Given the description of an element on the screen output the (x, y) to click on. 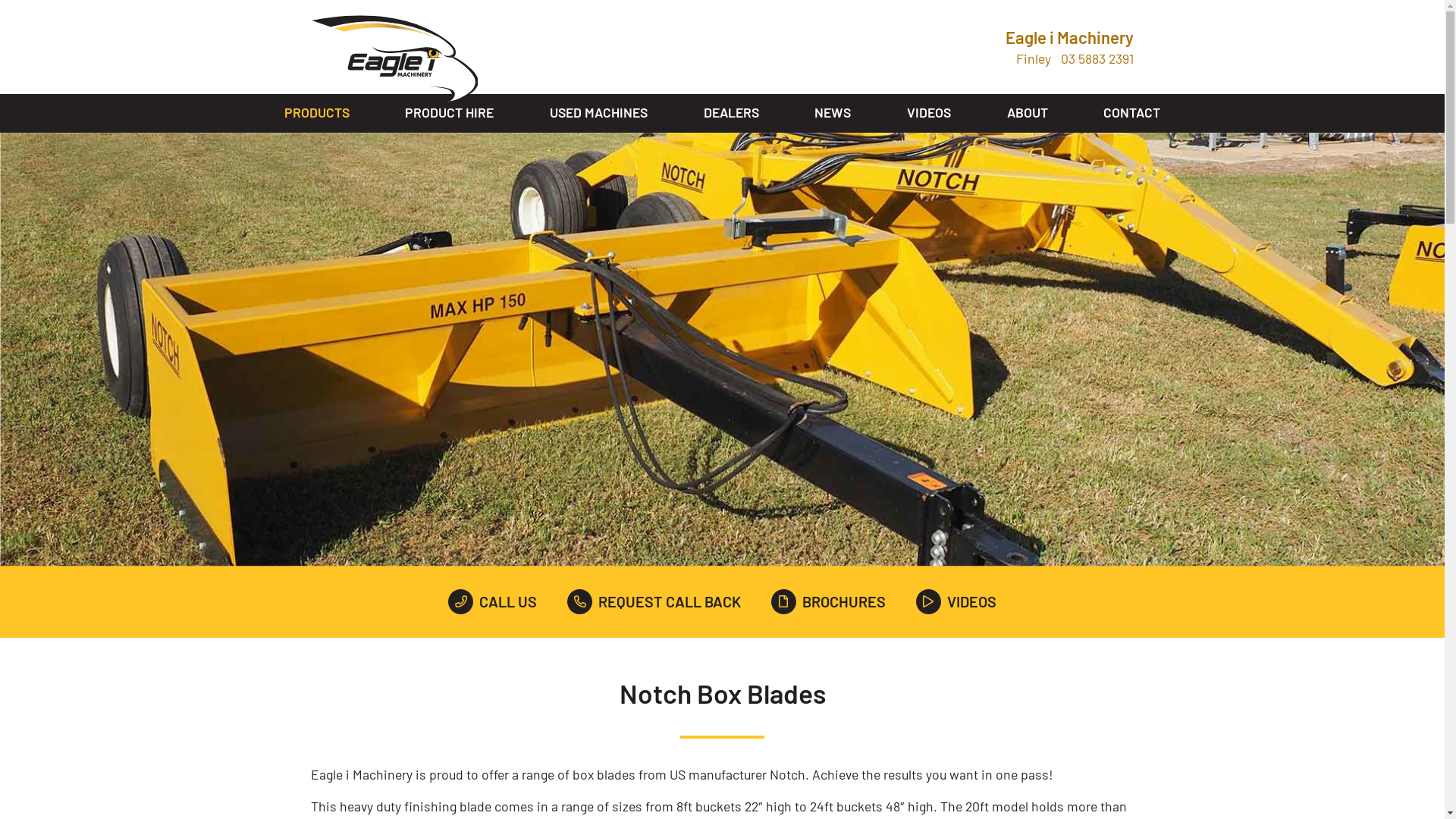
ABOUT Element type: text (1027, 113)
NEWS Element type: text (832, 113)
PRODUCTS Element type: text (316, 113)
CONTACT Element type: text (1131, 113)
Request Call Back Element type: text (526, 580)
PRODUCT HIRE Element type: text (448, 113)
VIDEOS Element type: text (955, 601)
Eagle i - Slider 05 Element type: hover (722, 349)
USED MACHINES Element type: text (598, 113)
VIDEOS Element type: text (928, 113)
BROCHURES Element type: text (828, 601)
DEALERS Element type: text (731, 113)
CALL US Element type: text (492, 601)
03 5883 2391 Element type: text (1096, 58)
